Given the description of an element on the screen output the (x, y) to click on. 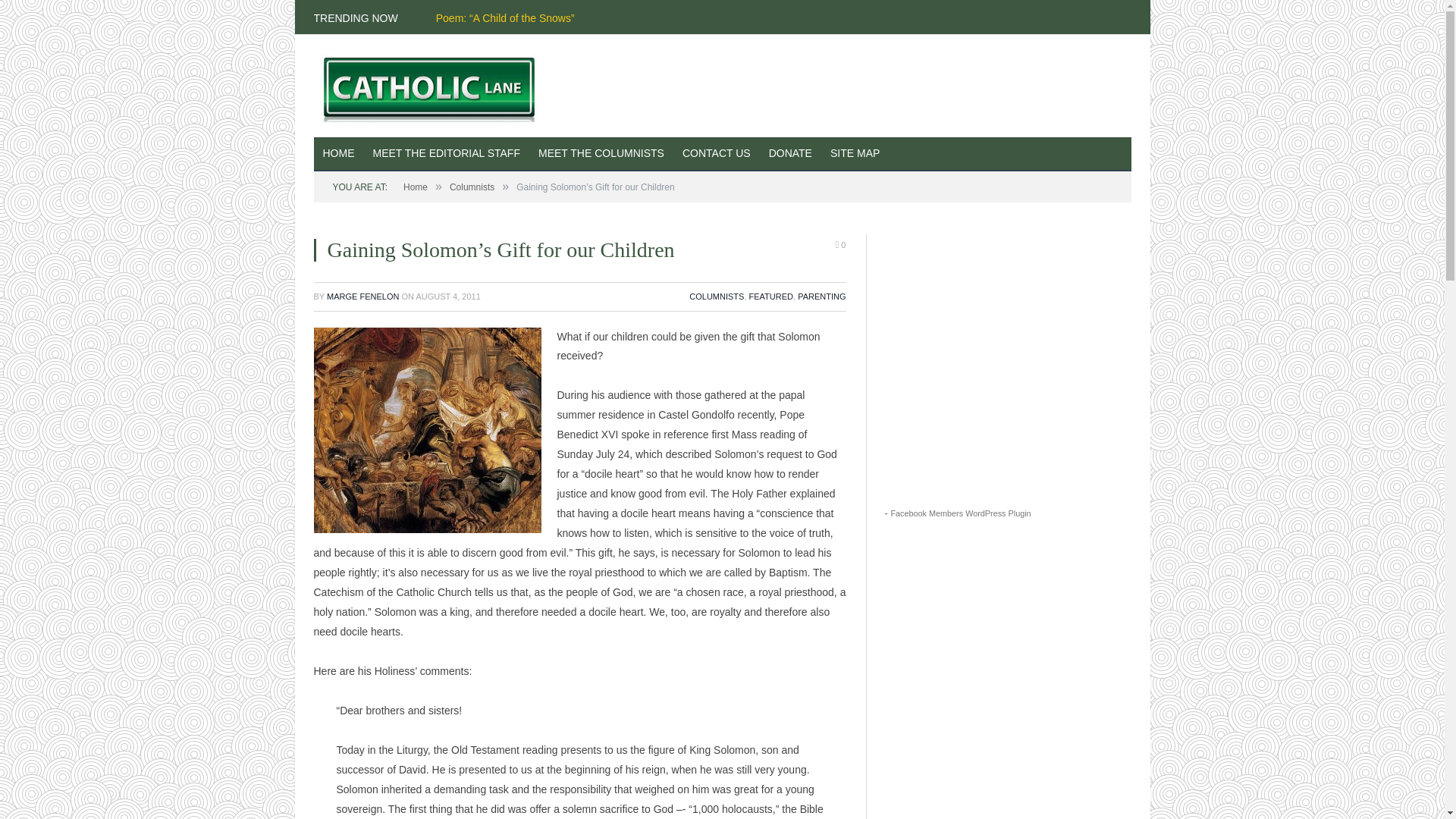
COLUMNISTS (716, 296)
HOME (339, 154)
MEET THE COLUMNISTS (600, 154)
Catholic Lane (435, 85)
FEATURED (771, 296)
MEET THE EDITORIAL STAFF (446, 154)
Columnists (472, 186)
DONATE (790, 154)
Posts by Marge Fenelon (362, 296)
Home (415, 186)
